Given the description of an element on the screen output the (x, y) to click on. 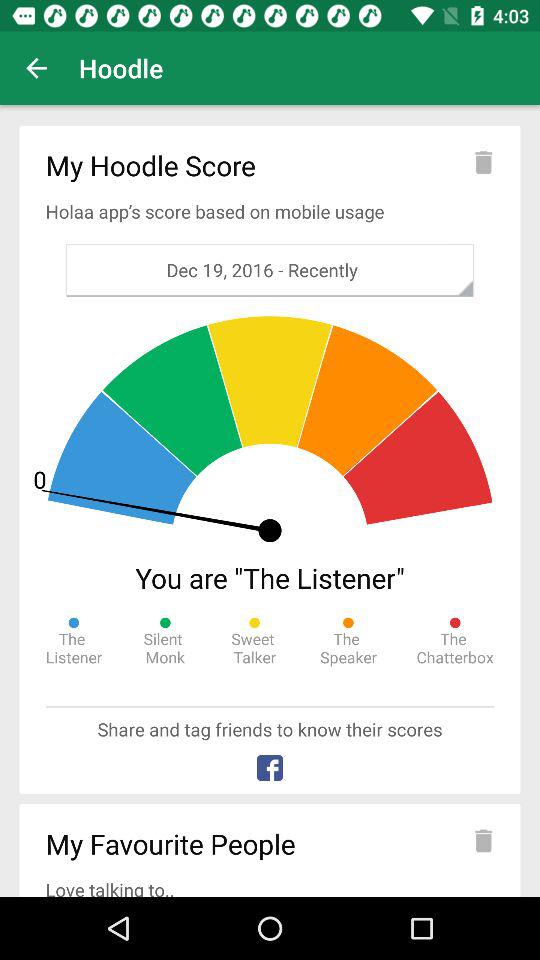
delete element (483, 840)
